Given the description of an element on the screen output the (x, y) to click on. 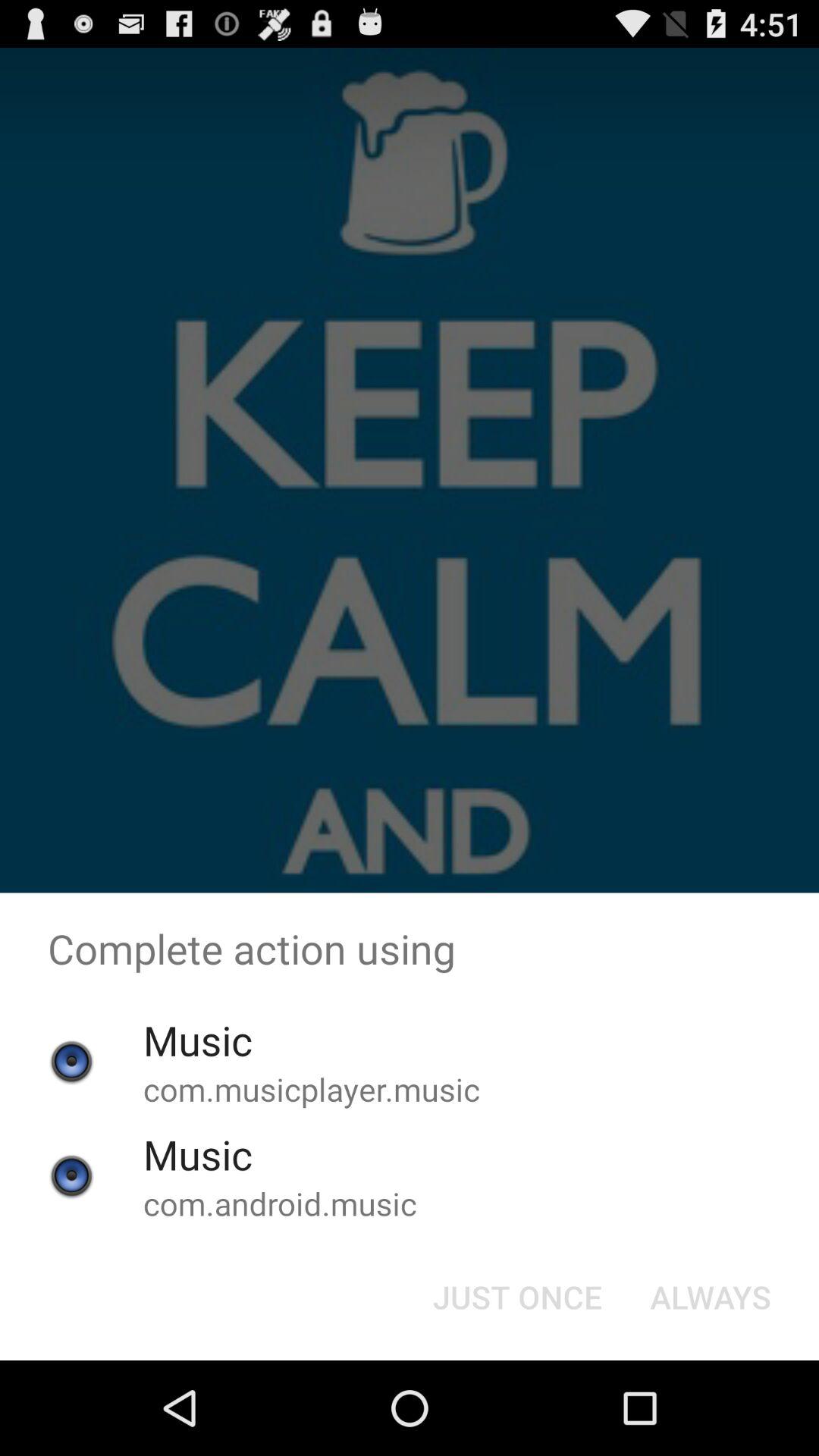
scroll to the always item (710, 1296)
